Given the description of an element on the screen output the (x, y) to click on. 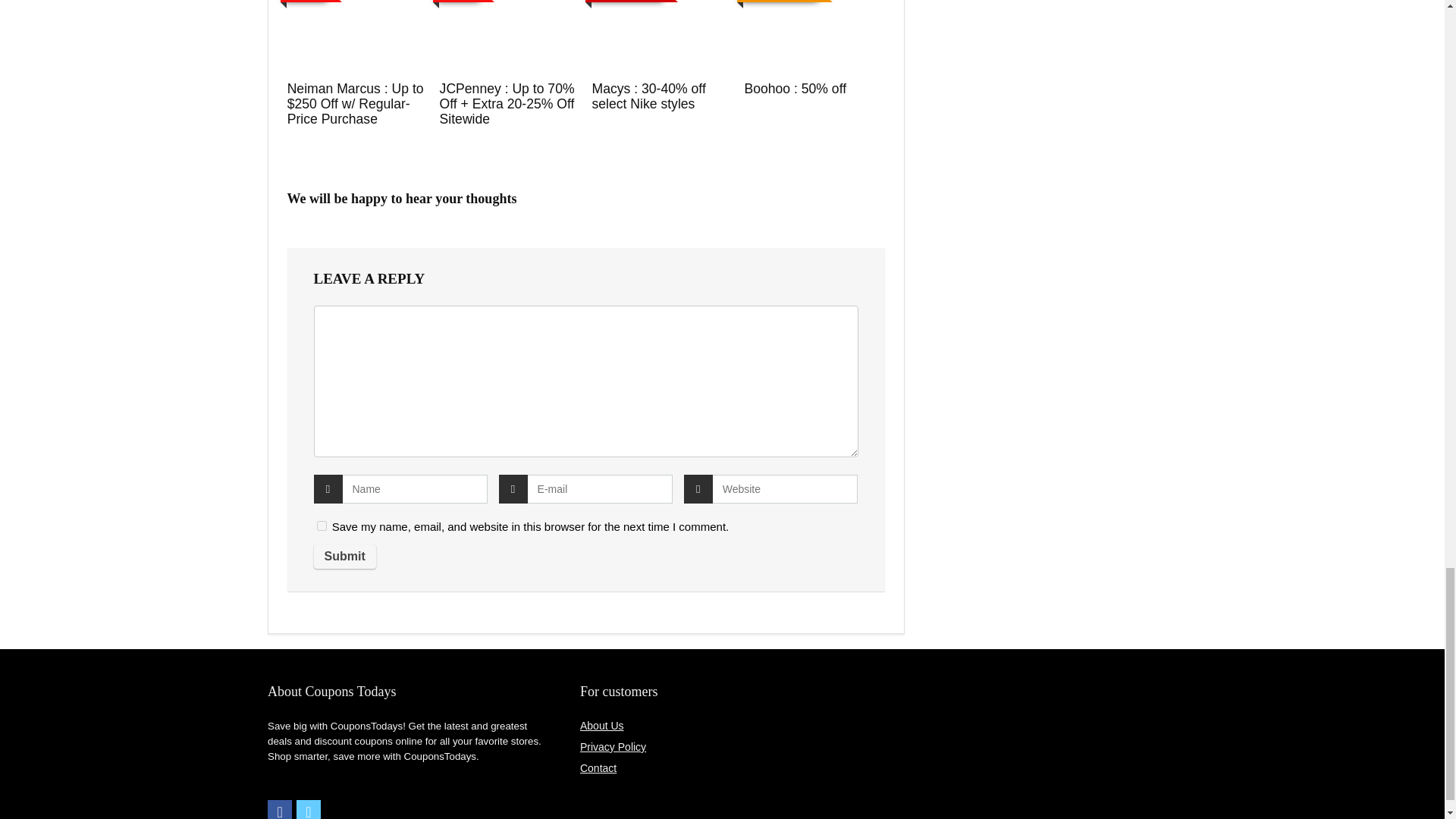
Submit (344, 556)
Submit (344, 556)
yes (321, 525)
